Given the description of an element on the screen output the (x, y) to click on. 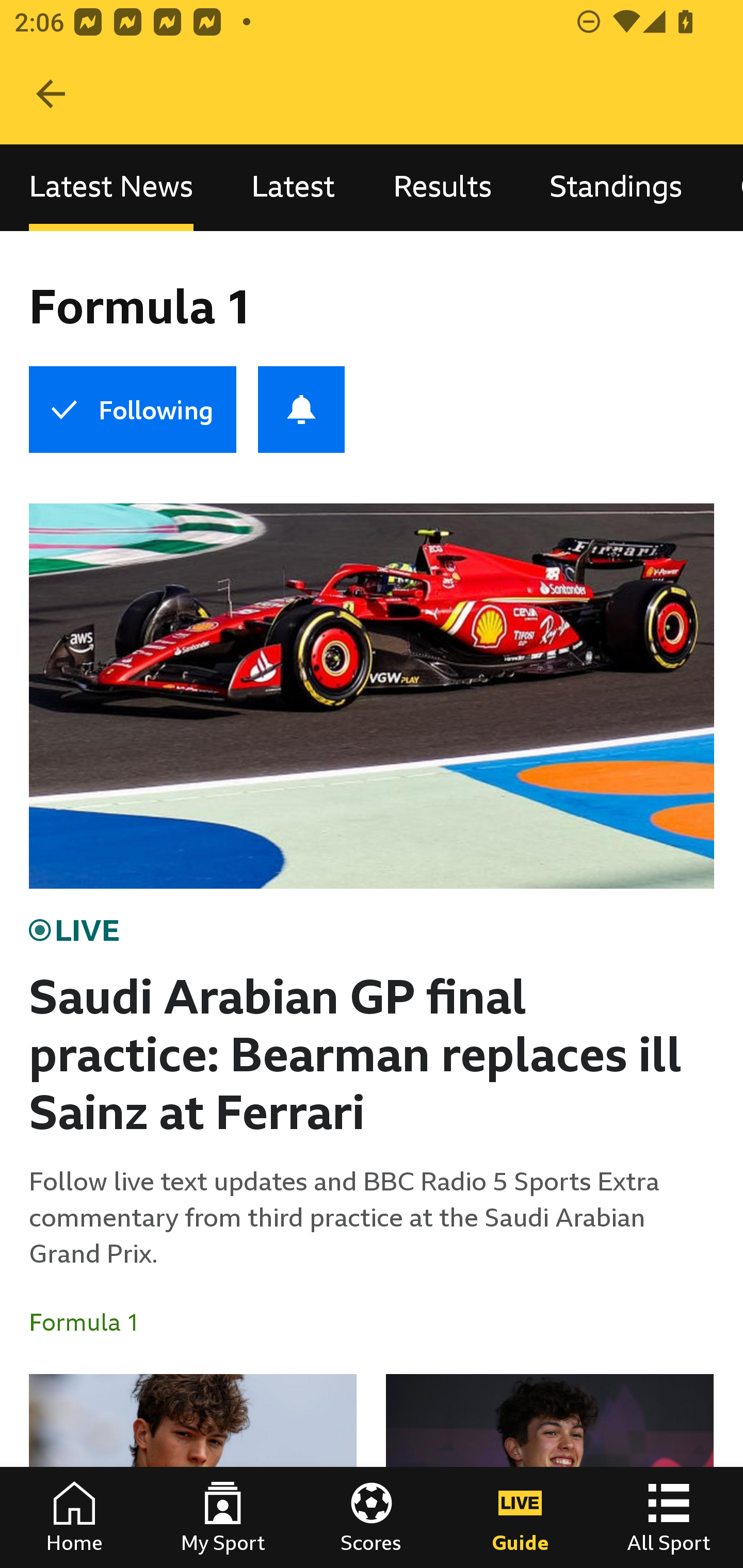
Navigate up (50, 93)
Latest News, selected Latest News (111, 187)
Latest (293, 187)
Results (442, 187)
Standings (615, 187)
Following Formula 1 Following (132, 409)
Push notifications for Formula 1 (300, 409)
Home (74, 1517)
My Sport (222, 1517)
Scores (371, 1517)
All Sport (668, 1517)
